Given the description of an element on the screen output the (x, y) to click on. 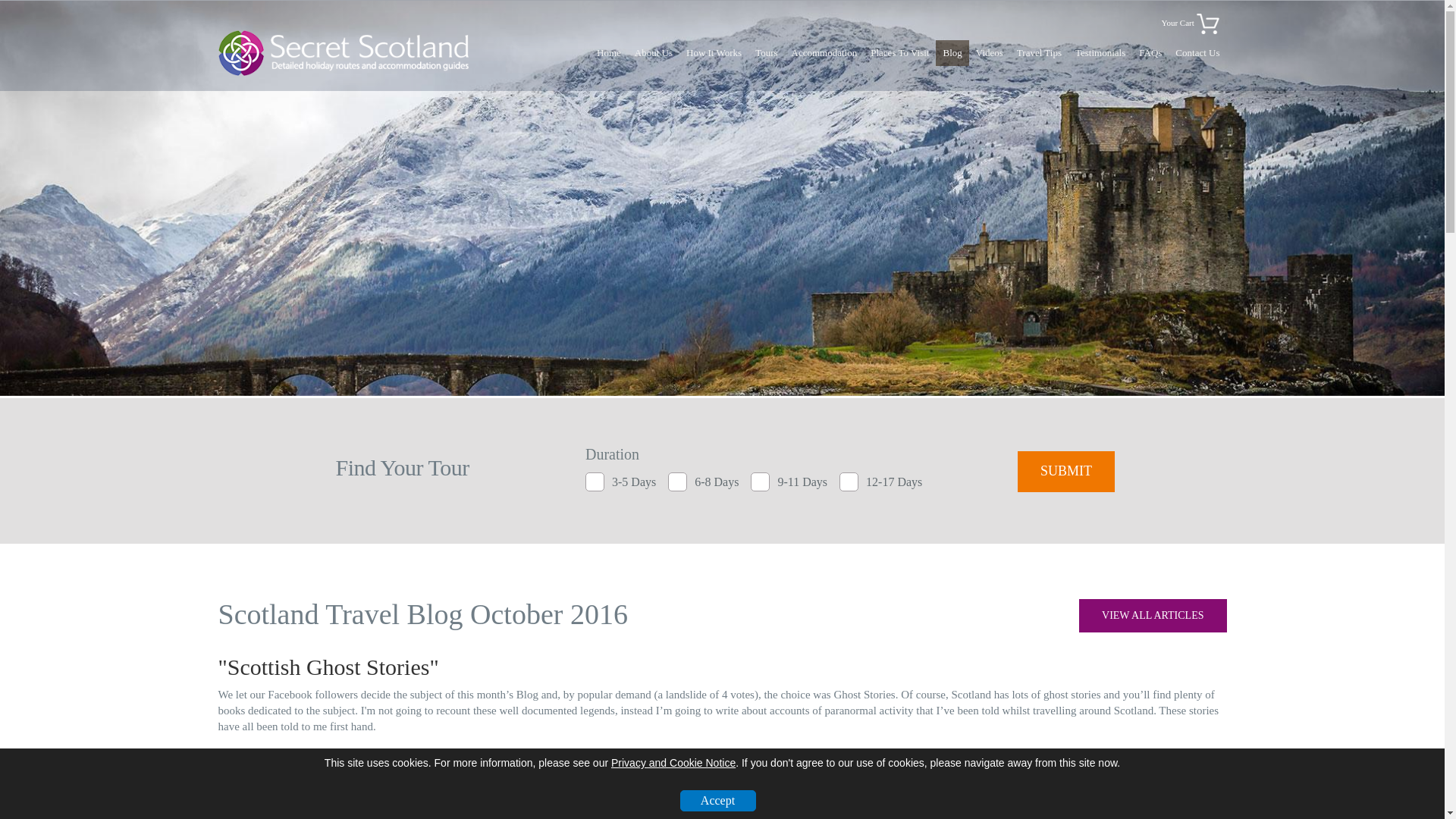
Testimonials (1100, 53)
Accept (717, 800)
Privacy and Cookie Notice (673, 762)
Videos (989, 53)
Places To Visit (899, 53)
VIEW ALL ARTICLES (1151, 615)
SUBMIT (1066, 471)
Tours (766, 53)
Travel Tips (1039, 53)
How It Works (713, 53)
SUBMIT (1066, 471)
Blog (952, 53)
Contact Us (1197, 53)
Spooky Scottish House (460, 815)
Accommodation (824, 53)
